Given the description of an element on the screen output the (x, y) to click on. 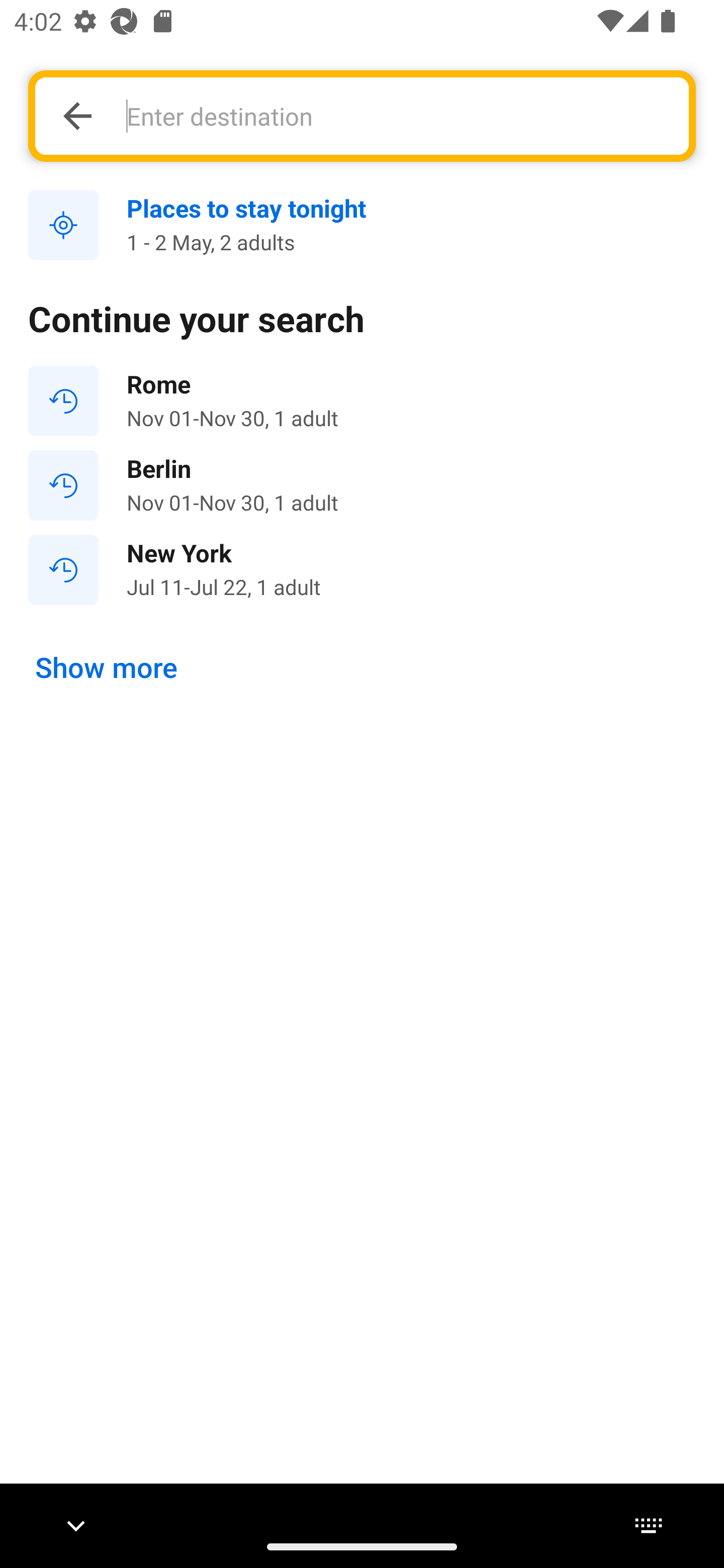
Enter destination (396, 115)
Places to stay tonight 1 - 2 May, 2 adults (362, 225)
Rome Nov 01-Nov 30, 1 adult  (362, 401)
Berlin Nov 01-Nov 30, 1 adult  (362, 485)
New York Jul 11-Jul 22, 1 adult  (362, 569)
Show more (106, 667)
